Given the description of an element on the screen output the (x, y) to click on. 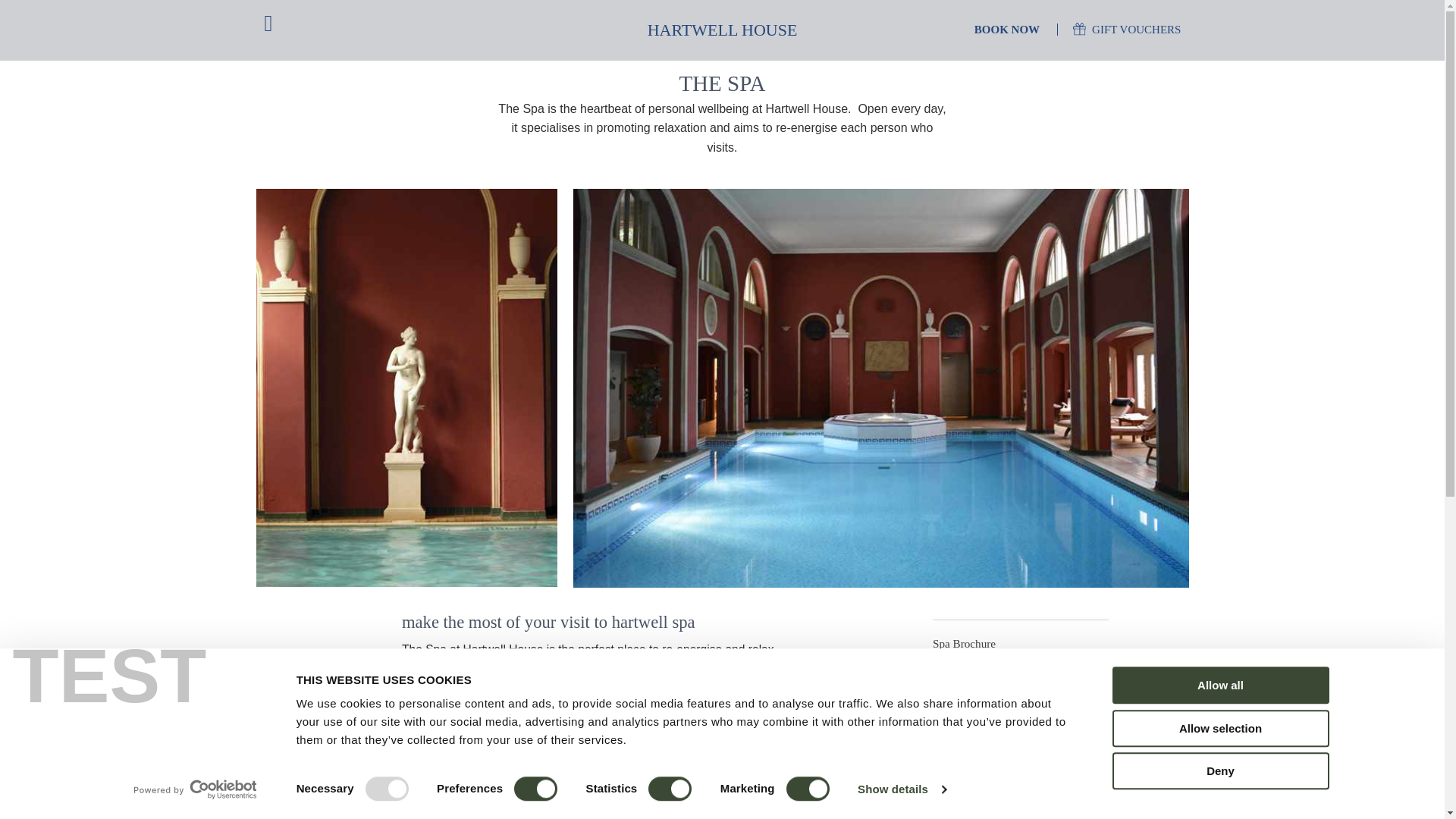
Show details (900, 789)
Allow selection (1219, 728)
Spa Pool (406, 388)
Allow all (1219, 684)
Deny (1219, 770)
